Given the description of an element on the screen output the (x, y) to click on. 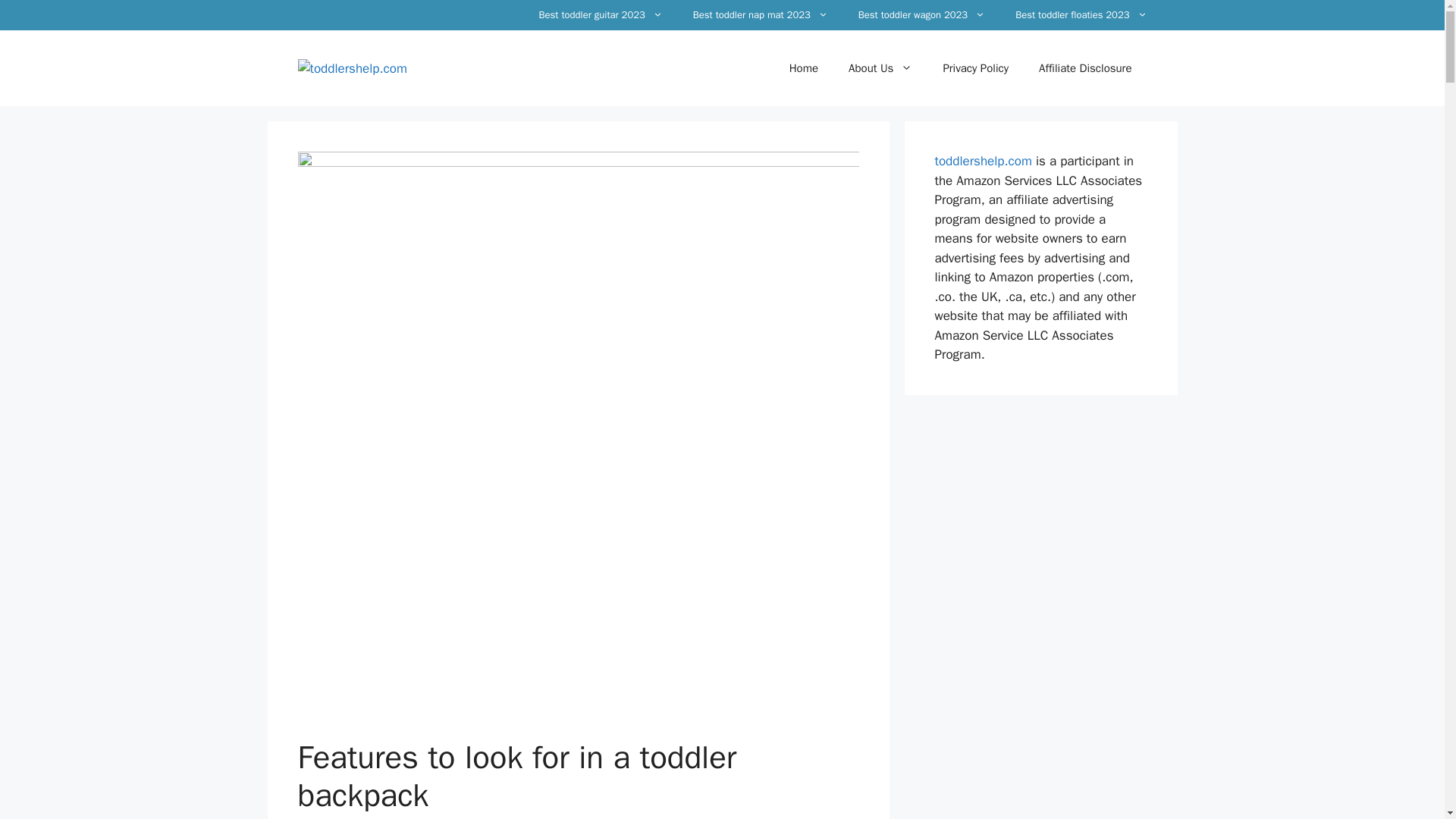
Privacy Policy (975, 67)
About Us (879, 67)
Best toddler floaties 2023 (1080, 15)
Best toddler guitar 2023 (601, 15)
Best toddler wagon 2023 (921, 15)
Affiliate Disclosure (1085, 67)
Home (803, 67)
Best toddler nap mat 2023 (760, 15)
